Given the description of an element on the screen output the (x, y) to click on. 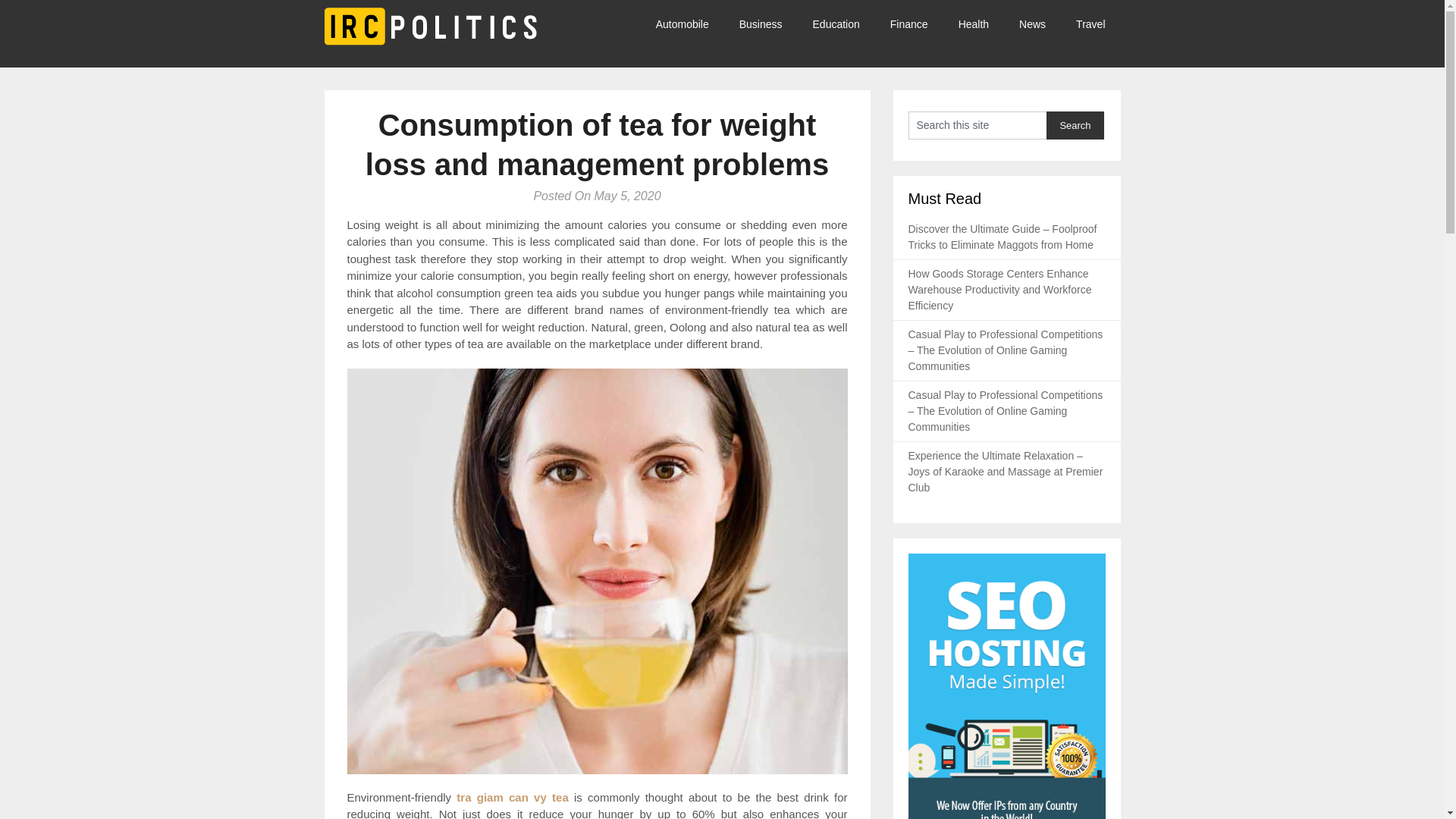
Automobile (689, 24)
Travel (1090, 24)
tra giam can vy tea (512, 796)
Search (1075, 125)
Education (836, 24)
News (1032, 24)
Search (1075, 125)
Search this site (977, 125)
Business (760, 24)
Health (973, 24)
Finance (909, 24)
